Given the description of an element on the screen output the (x, y) to click on. 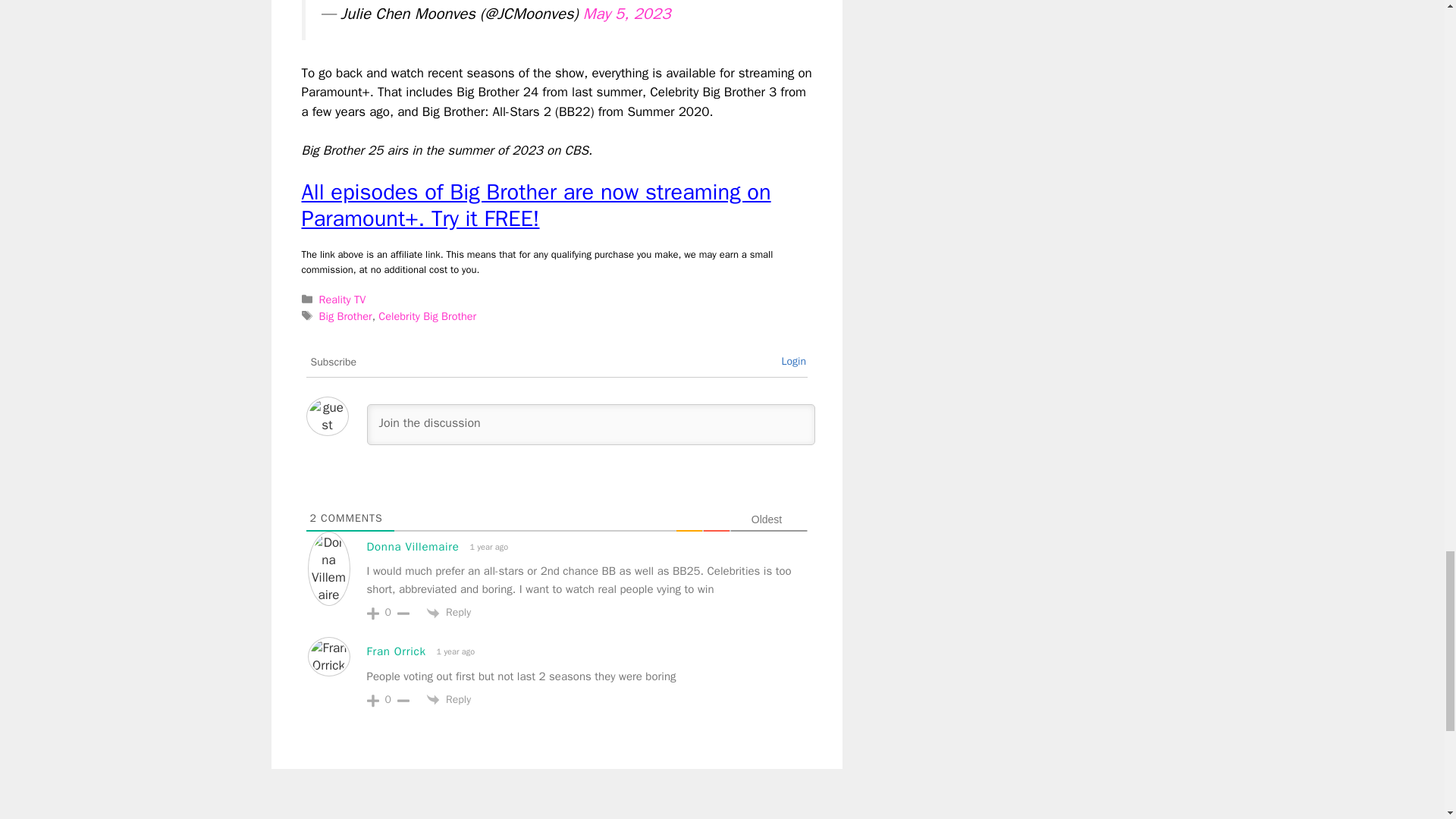
0 (387, 612)
Big Brother (345, 315)
0 (387, 699)
18th May 2023 9:50 pm EDT (487, 546)
19th May 2023 4:21 pm EDT (454, 651)
Reality TV (342, 299)
Login (793, 360)
May 5, 2023 (627, 13)
Celebrity Big Brother (427, 315)
